Given the description of an element on the screen output the (x, y) to click on. 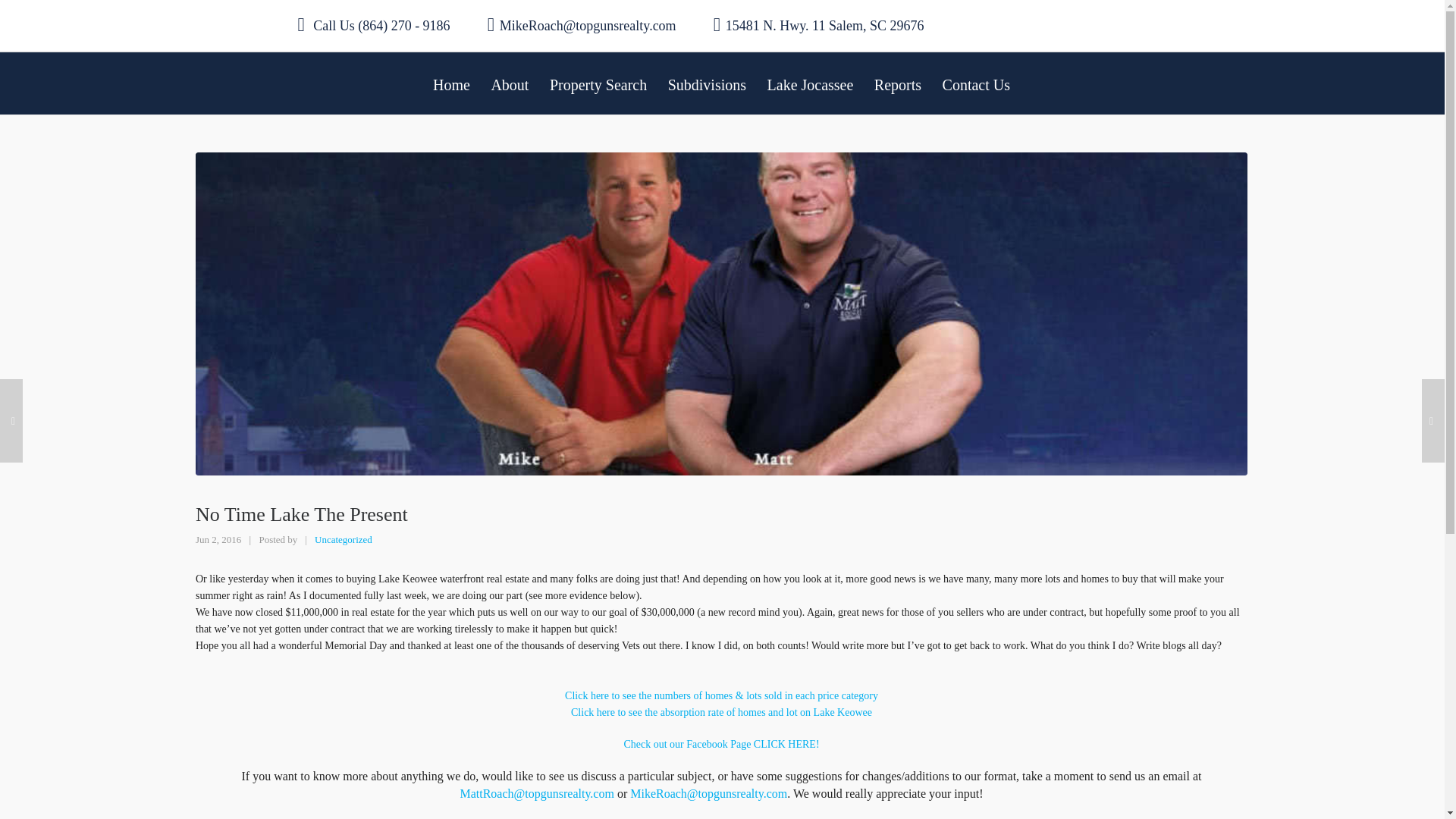
About (509, 83)
Lake Keowee Waterfront Real Estate Numbe (720, 695)
Lake Keowee Real Estate Reserve (720, 744)
15481 N. Hwy. 11 Salem, SC 29676 (818, 24)
Home (451, 83)
View all posts in Uncategorized (343, 539)
Lake Keowee Real Estate Numbers Roach (721, 712)
